Given the description of an element on the screen output the (x, y) to click on. 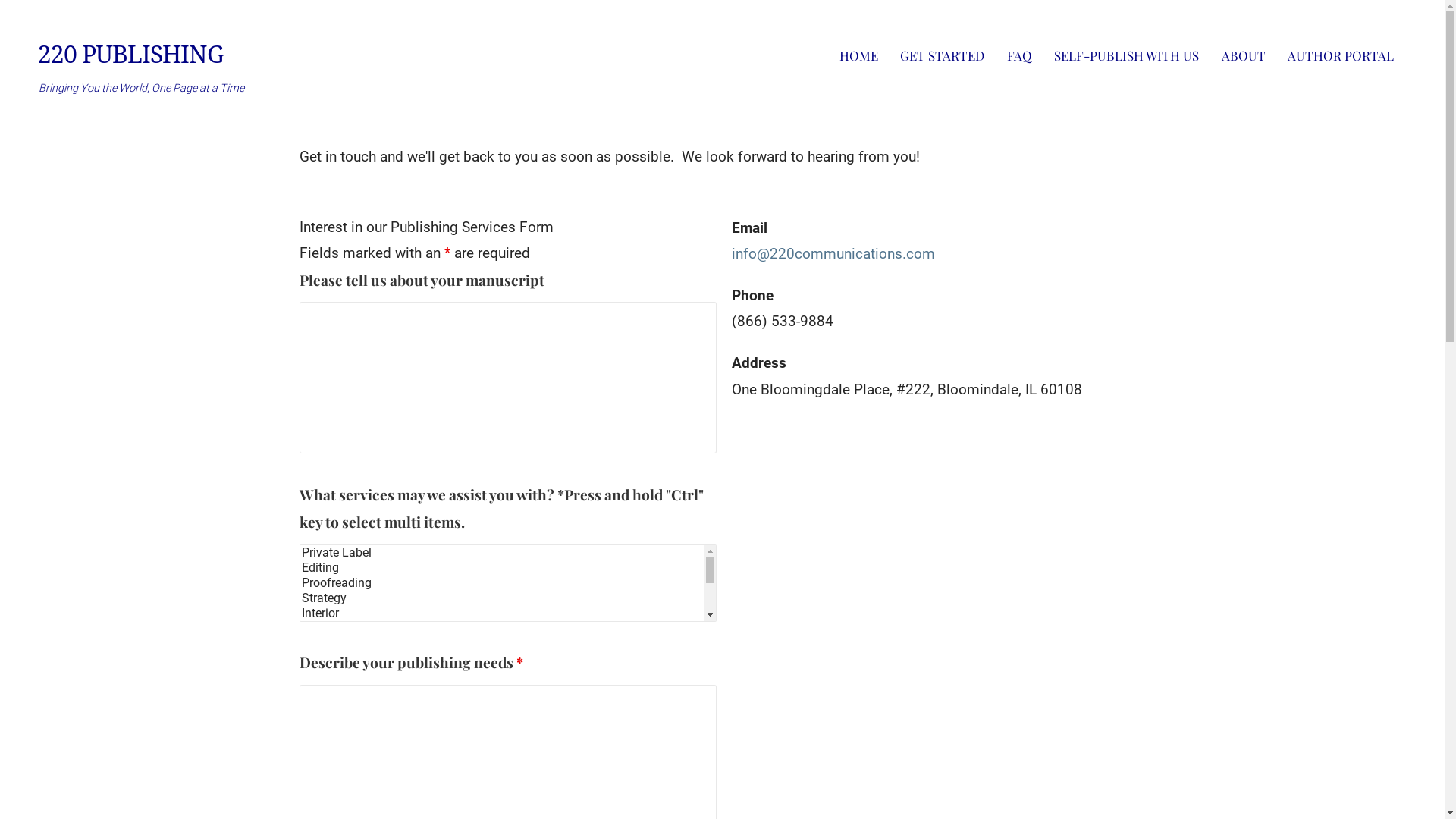
FAQ Element type: text (1019, 54)
SELF-PUBLISH WITH US Element type: text (1126, 54)
info@220communications.com Element type: text (833, 253)
AUTHOR PORTAL Element type: text (1341, 54)
ABOUT Element type: text (1243, 54)
220 PUBLISHING Element type: text (130, 54)
GET STARTED Element type: text (942, 54)
HOME Element type: text (858, 54)
